Given the description of an element on the screen output the (x, y) to click on. 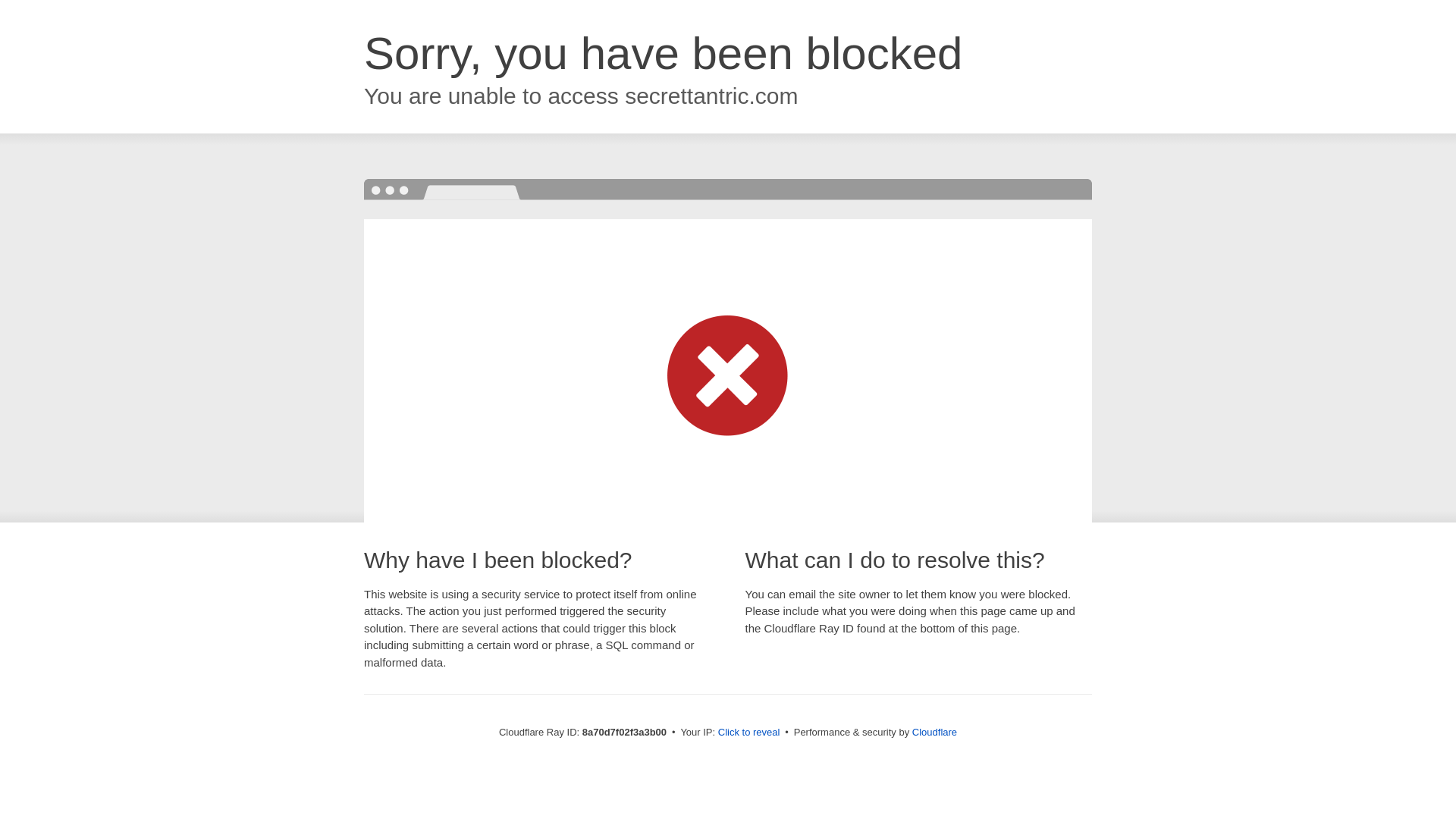
Cloudflare (934, 731)
Click to reveal (748, 732)
